Given the description of an element on the screen output the (x, y) to click on. 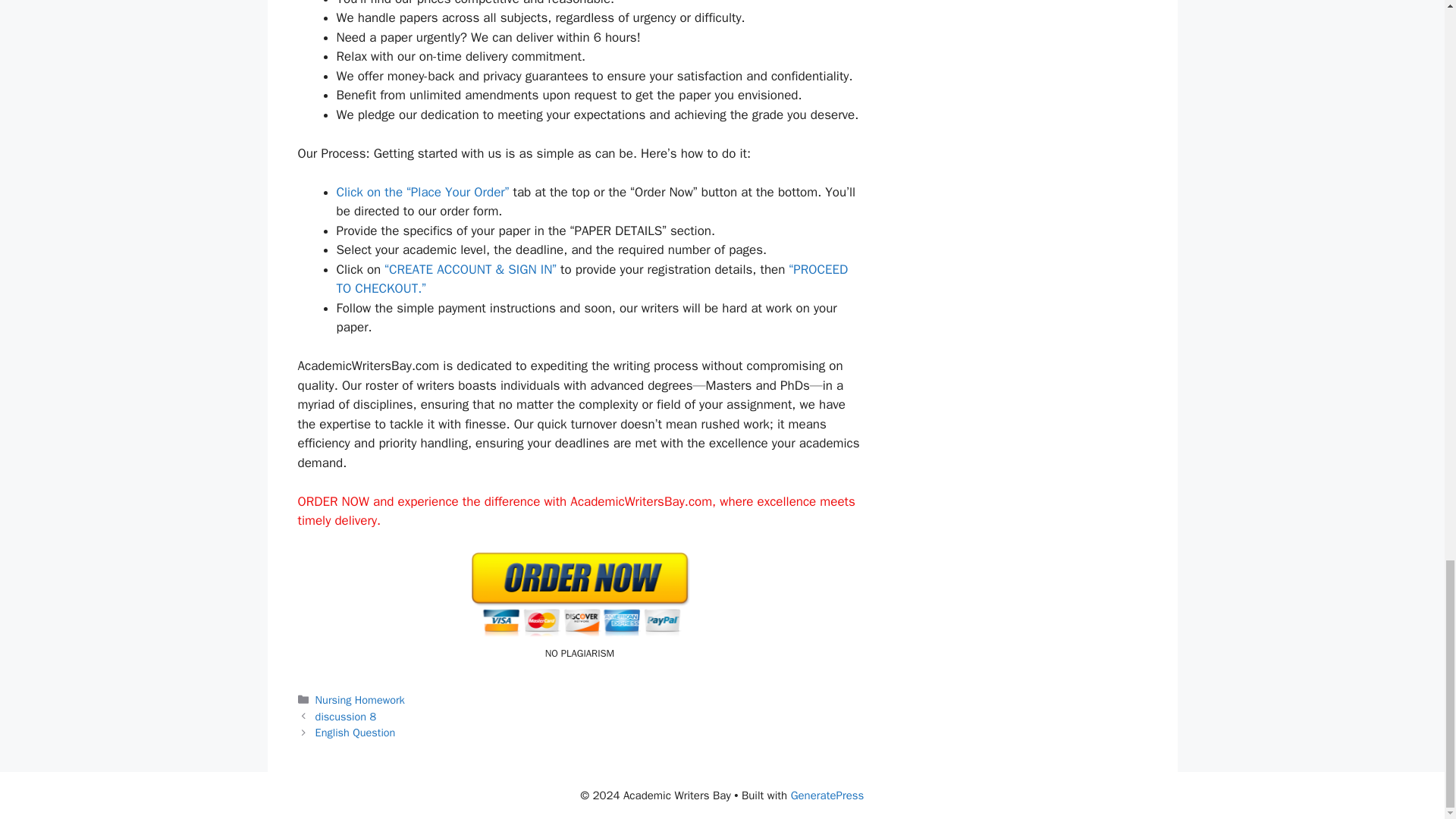
GeneratePress (827, 795)
Nursing Homework (359, 699)
discussion 8 (345, 716)
English Question (355, 732)
